Given the description of an element on the screen output the (x, y) to click on. 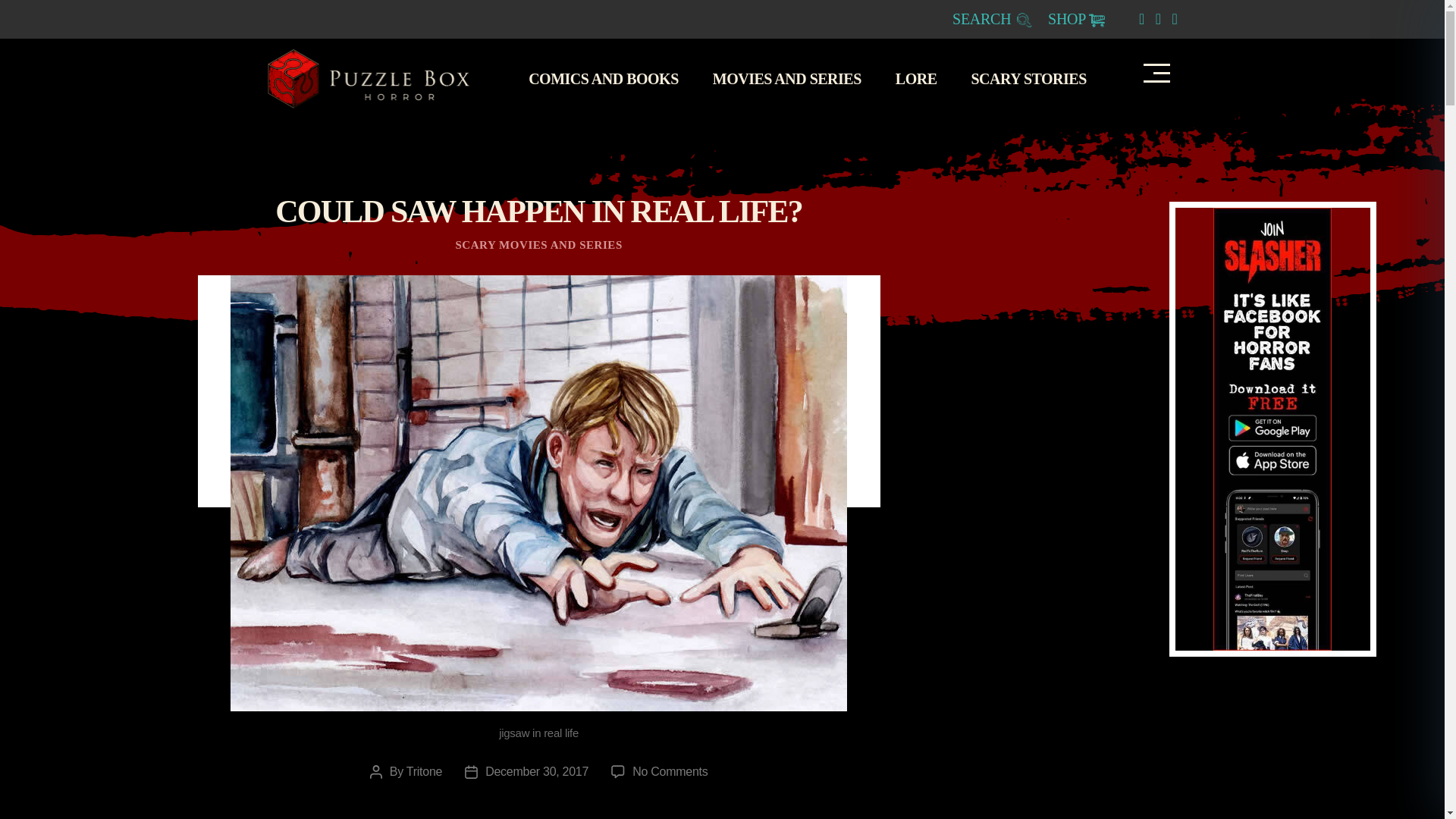
SHOP (1076, 18)
LORE (923, 78)
SEARCH (992, 18)
COMICS AND BOOKS (611, 78)
SCARY STORIES (1035, 78)
MOVIES AND SERIES (794, 78)
